Given the description of an element on the screen output the (x, y) to click on. 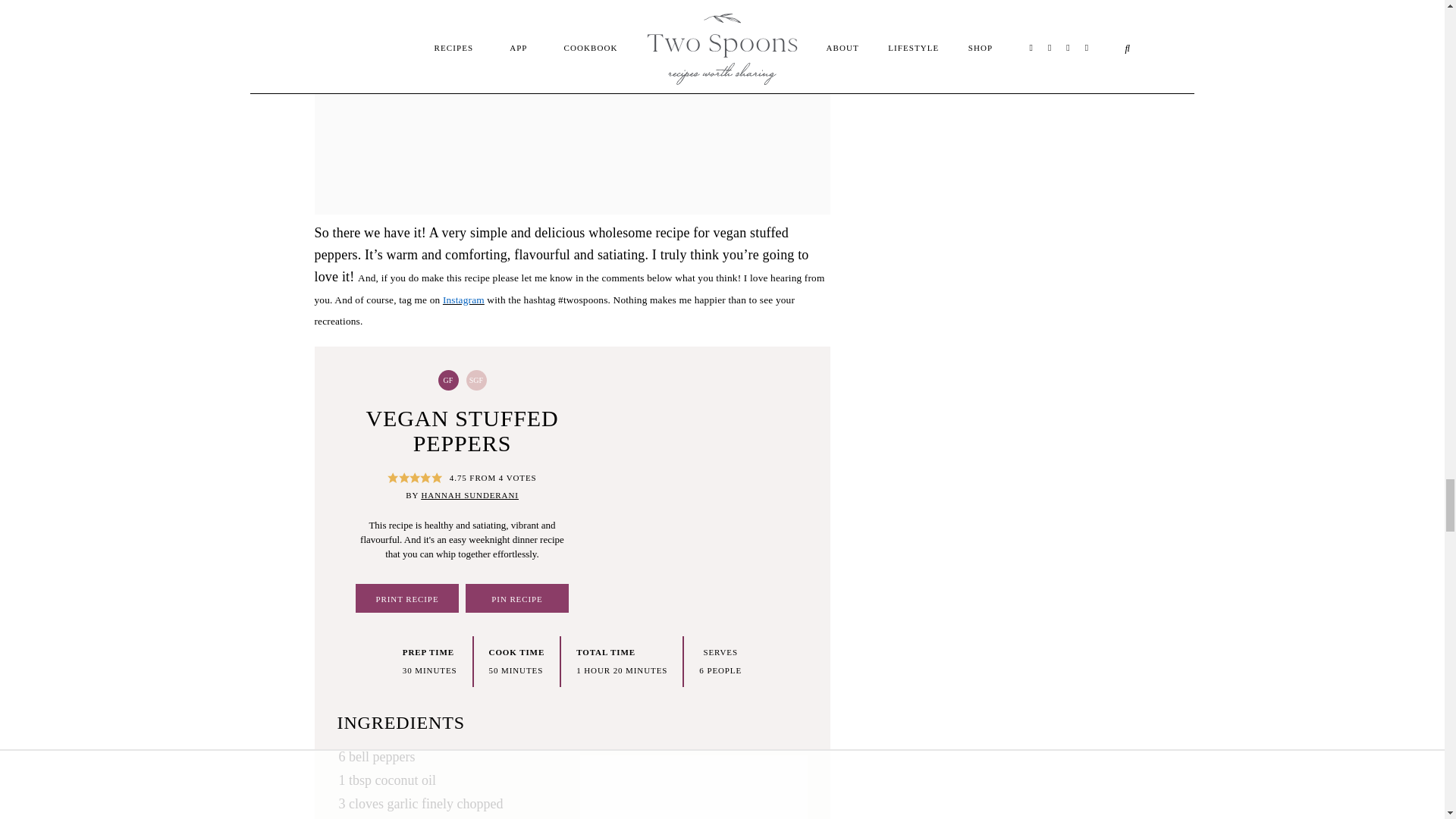
HANNAH SUNDERANI (469, 494)
Instagram (463, 298)
GF (447, 380)
SGF (476, 380)
PRINT RECIPE (406, 597)
